Given the description of an element on the screen output the (x, y) to click on. 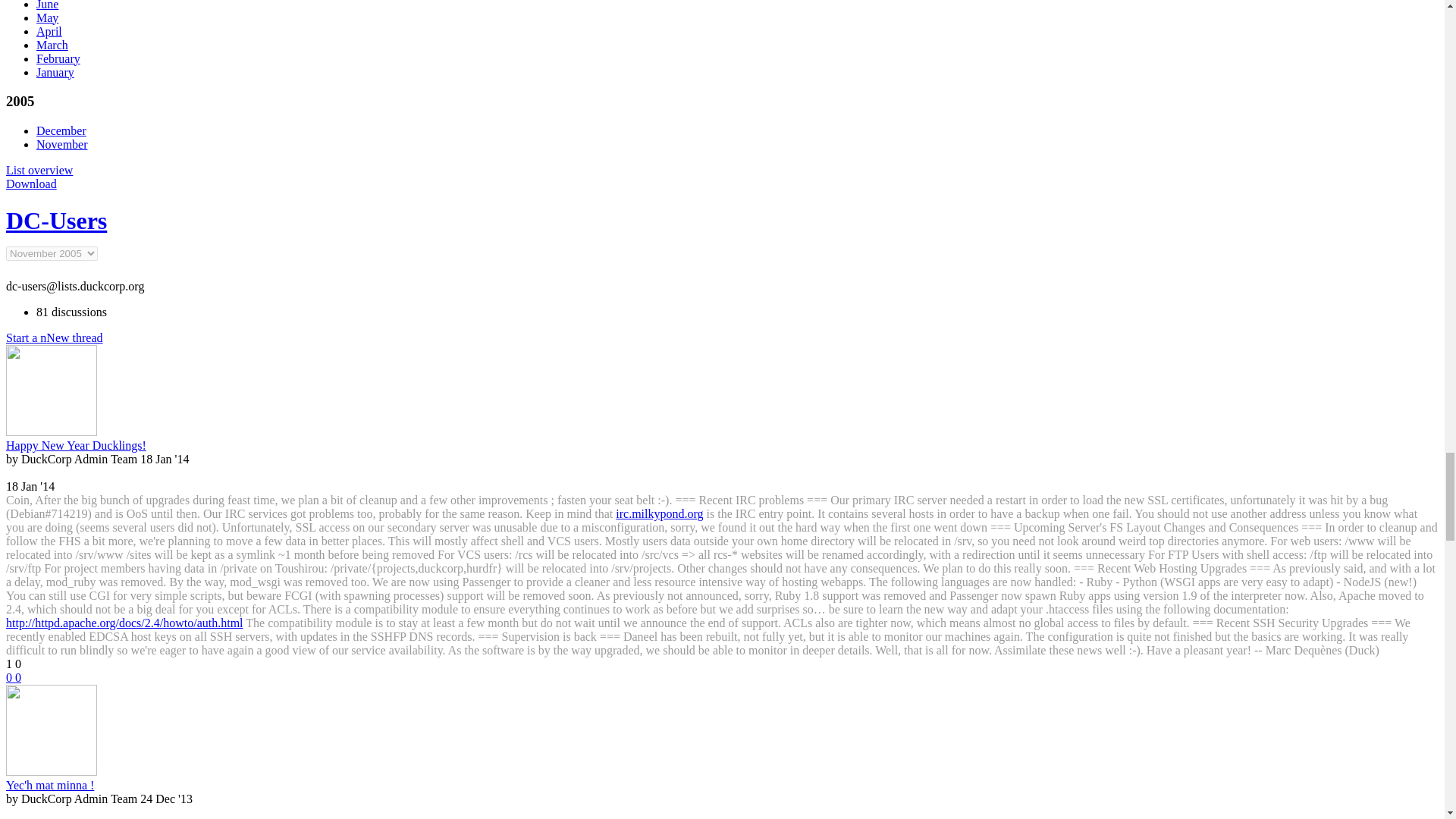
Saturday, 18 January 2014 17:29:27 (164, 459)
Tuesday, 24 December 2013 17:24:25 (165, 798)
Saturday, 18 January 2014 17:29:27 (30, 486)
This month in gzipped mbox format (30, 183)
You must be logged-in to vote. (9, 676)
You must be logged-in to vote. (17, 676)
